Given the description of an element on the screen output the (x, y) to click on. 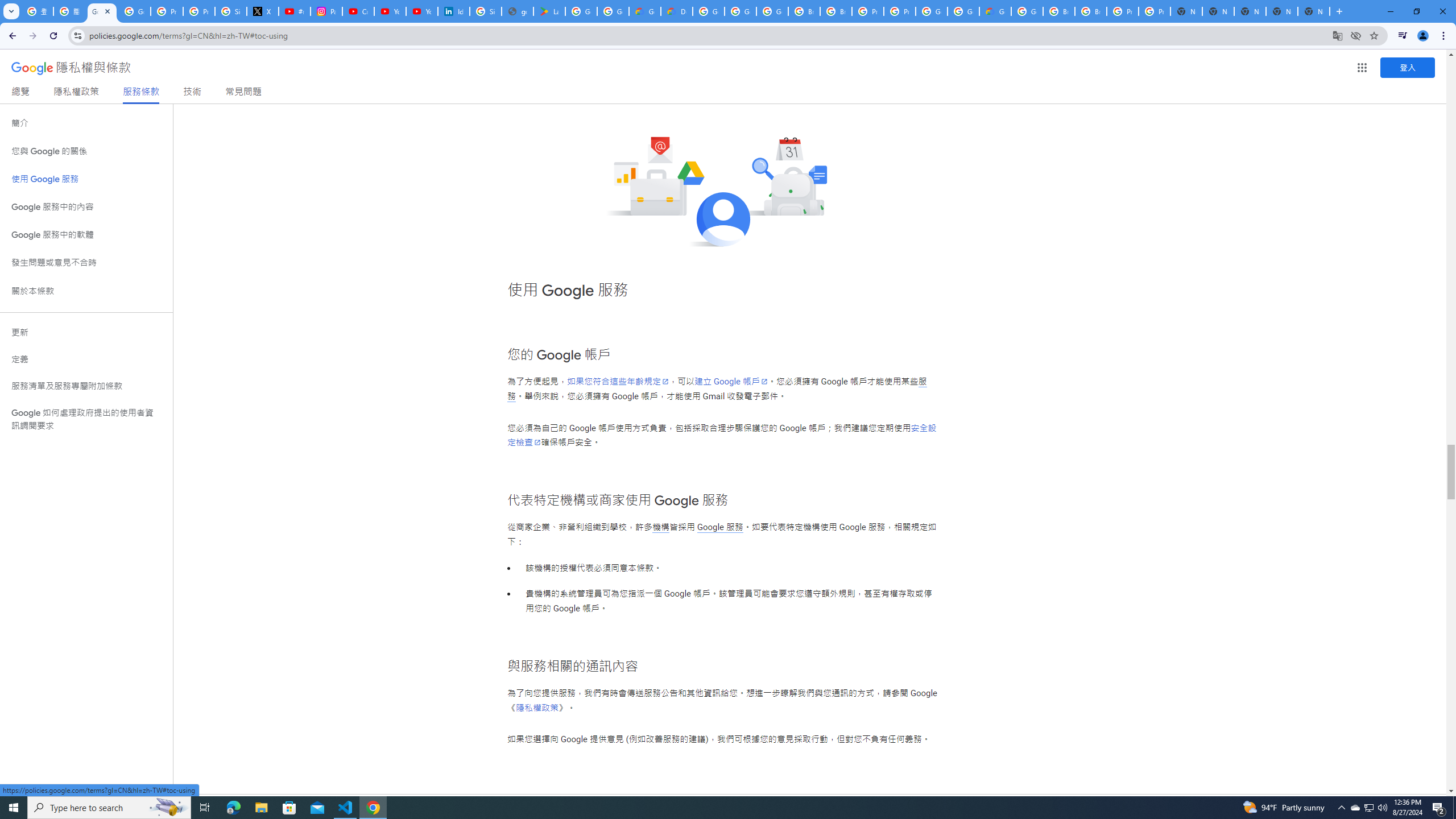
Google Cloud Platform (1027, 11)
